Given the description of an element on the screen output the (x, y) to click on. 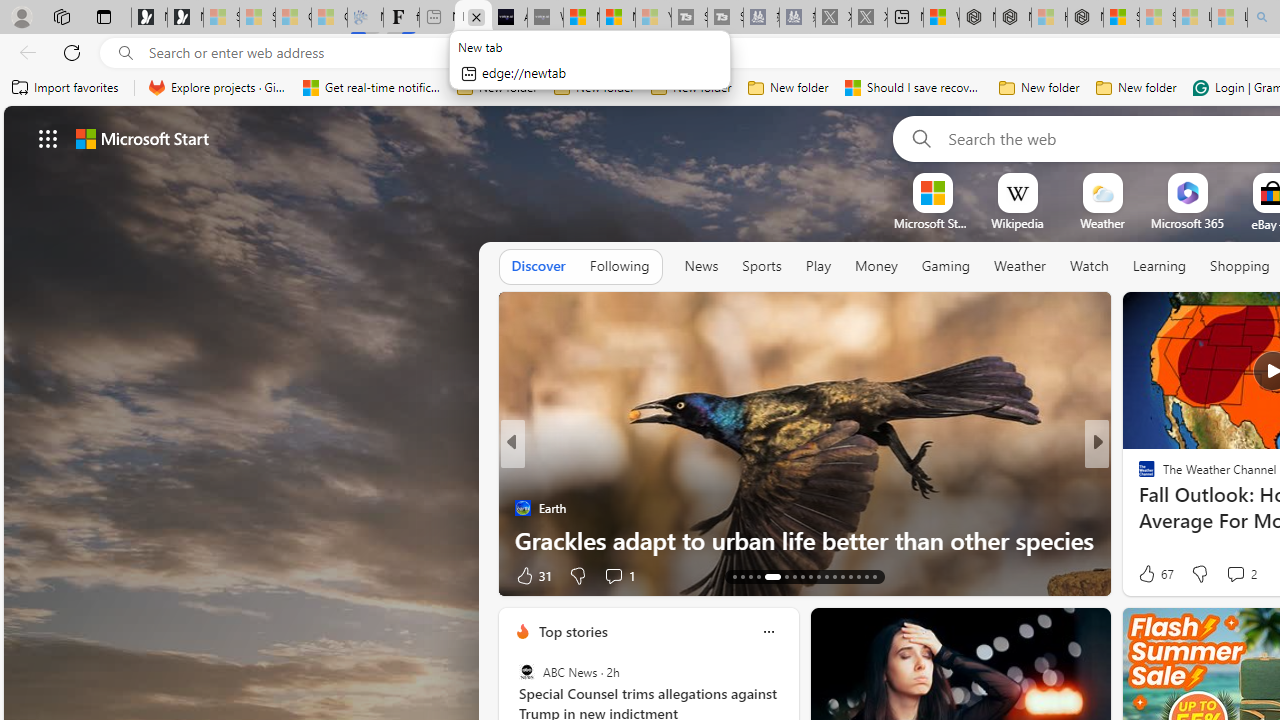
New tab - Sleeping (436, 17)
Microsoft start (142, 138)
View comments 4 Comment (1234, 574)
127 Like (1151, 574)
AutomationID: tab-27 (825, 576)
View comments 2 Comment (1240, 574)
Nordace - Summer Adventures 2024 (1012, 17)
Watch (1089, 267)
AutomationID: tab-25 (810, 576)
Dislike (1199, 574)
Gaming (945, 265)
67 Like (1154, 574)
Nordace (1153, 507)
50 Like (1149, 574)
Sports (761, 267)
